Given the description of an element on the screen output the (x, y) to click on. 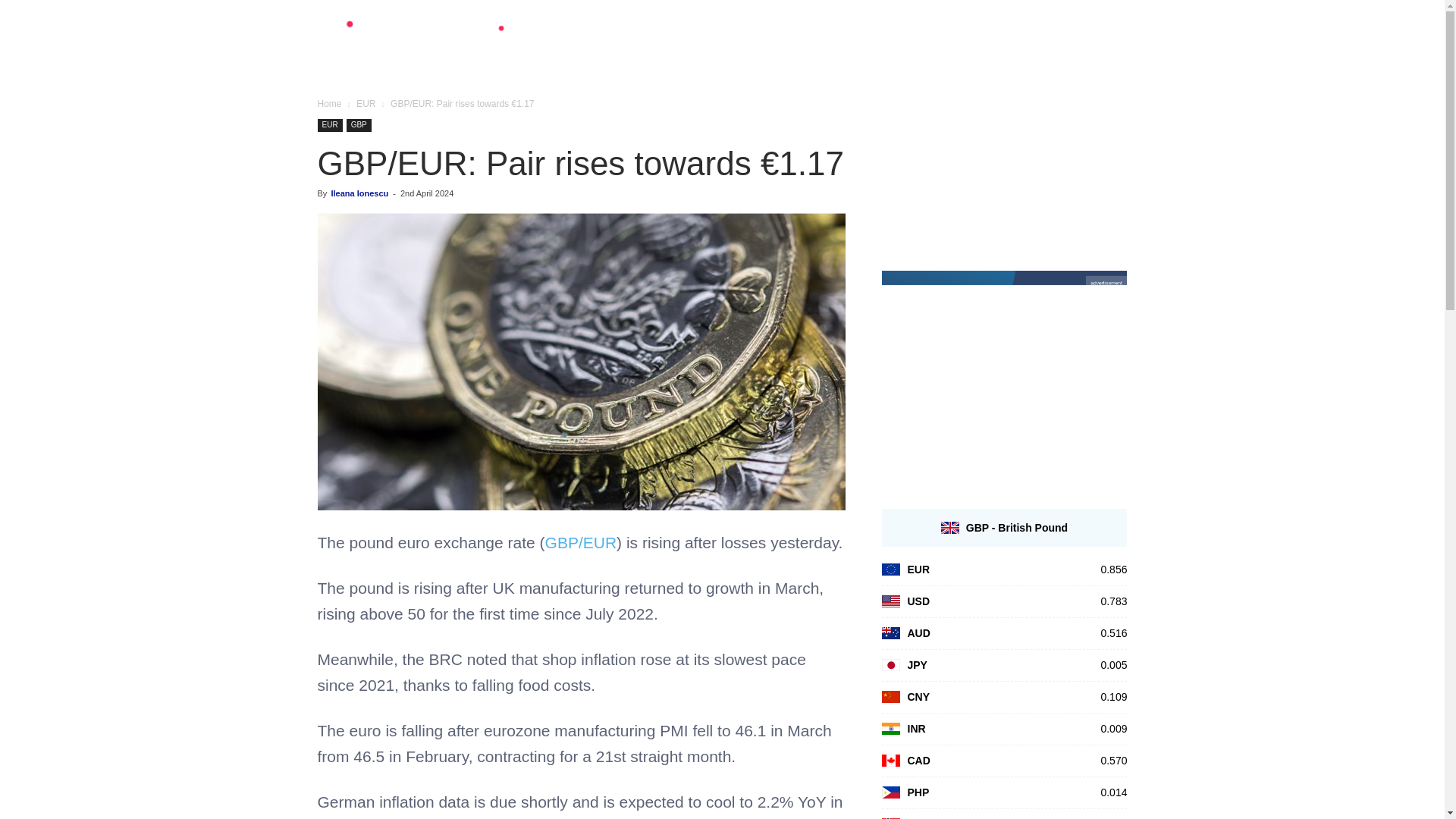
GBP (358, 124)
View all posts in EUR (365, 103)
ABOUT (1061, 50)
EUR (329, 124)
CURRENCY CONVERTER (822, 50)
CURRENCY NEWS (965, 50)
Ileana Ionescu (359, 193)
Currency Live (426, 39)
Search (1085, 122)
Home (328, 103)
